Given the description of an element on the screen output the (x, y) to click on. 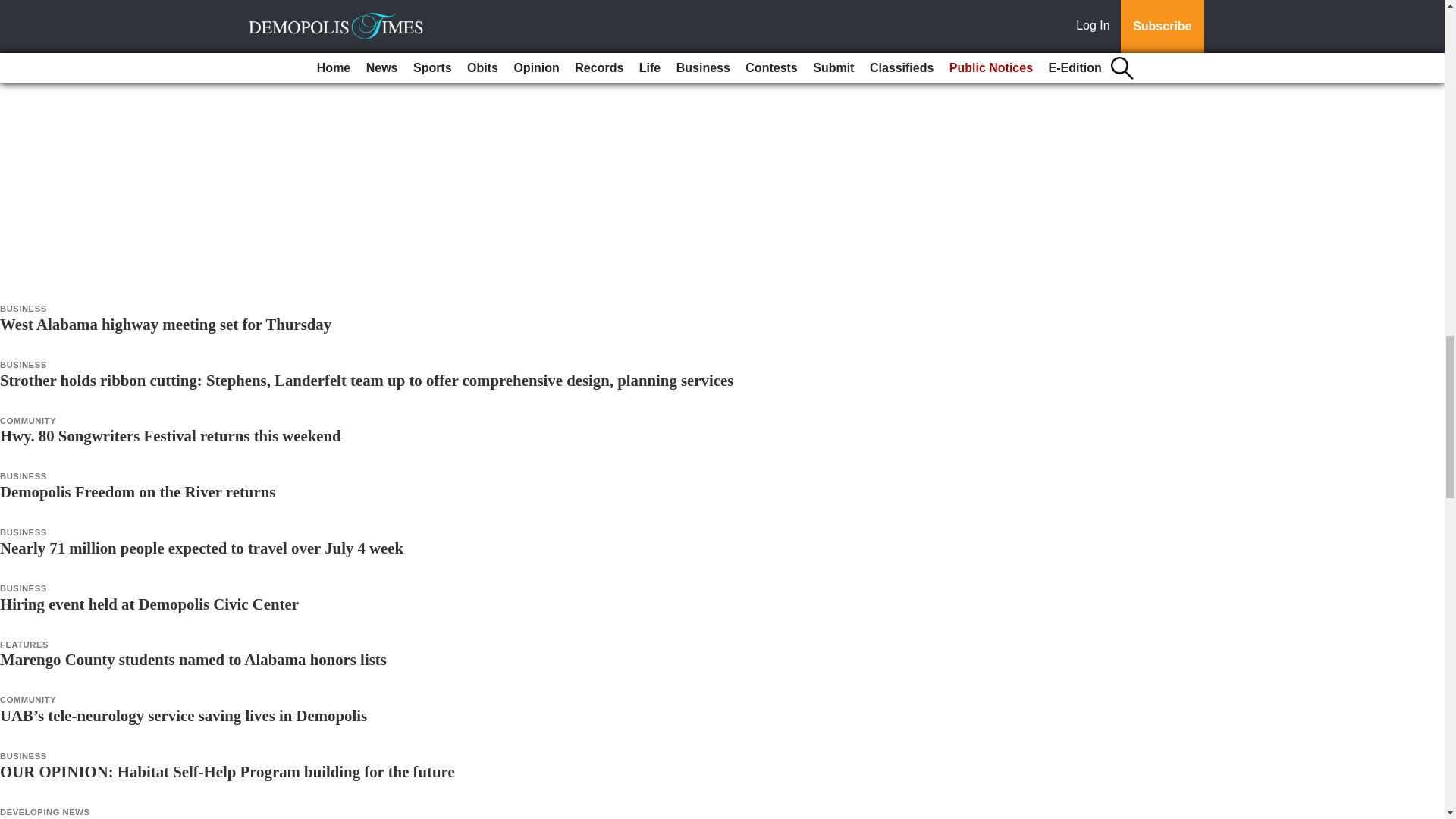
Nearly 71 million people expected to travel over July 4 week (201, 547)
Demopolis Freedom on the River returns (137, 491)
Marengo County students named to Alabama honors lists (193, 659)
Nearly 71 million people expected to travel over July 4 week (201, 547)
Hiring event held at Demopolis Civic Center (149, 603)
Hwy. 80 Songwriters Festival returns this weekend (170, 435)
Demopolis Freedom on the River returns (137, 491)
Marengo County students named to Alabama honors lists (193, 659)
Hiring event held at Demopolis Civic Center (149, 603)
West Alabama highway meeting set for Thursday (165, 323)
Hwy. 80 Songwriters Festival returns this weekend (170, 435)
